Given the description of an element on the screen output the (x, y) to click on. 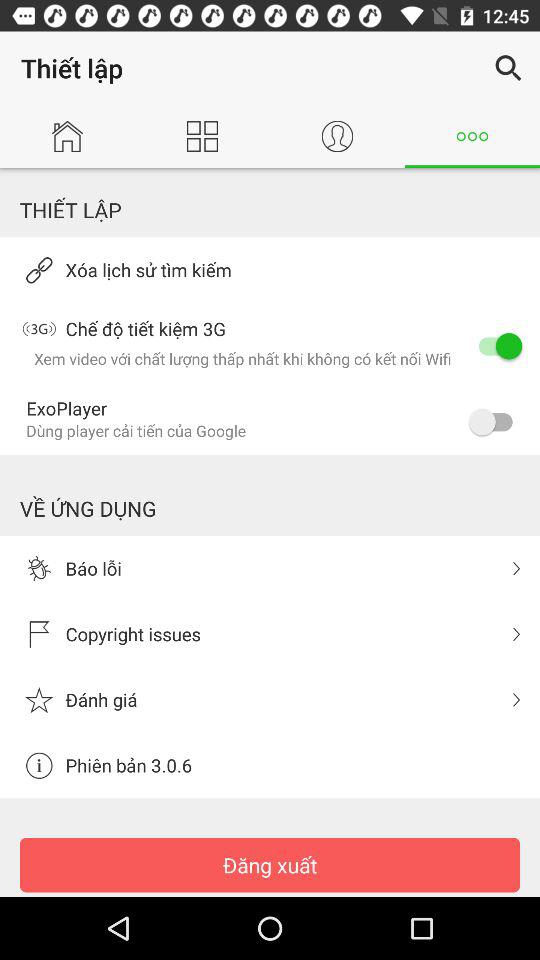
turn off the icon above the exoplayer icon (495, 345)
